Given the description of an element on the screen output the (x, y) to click on. 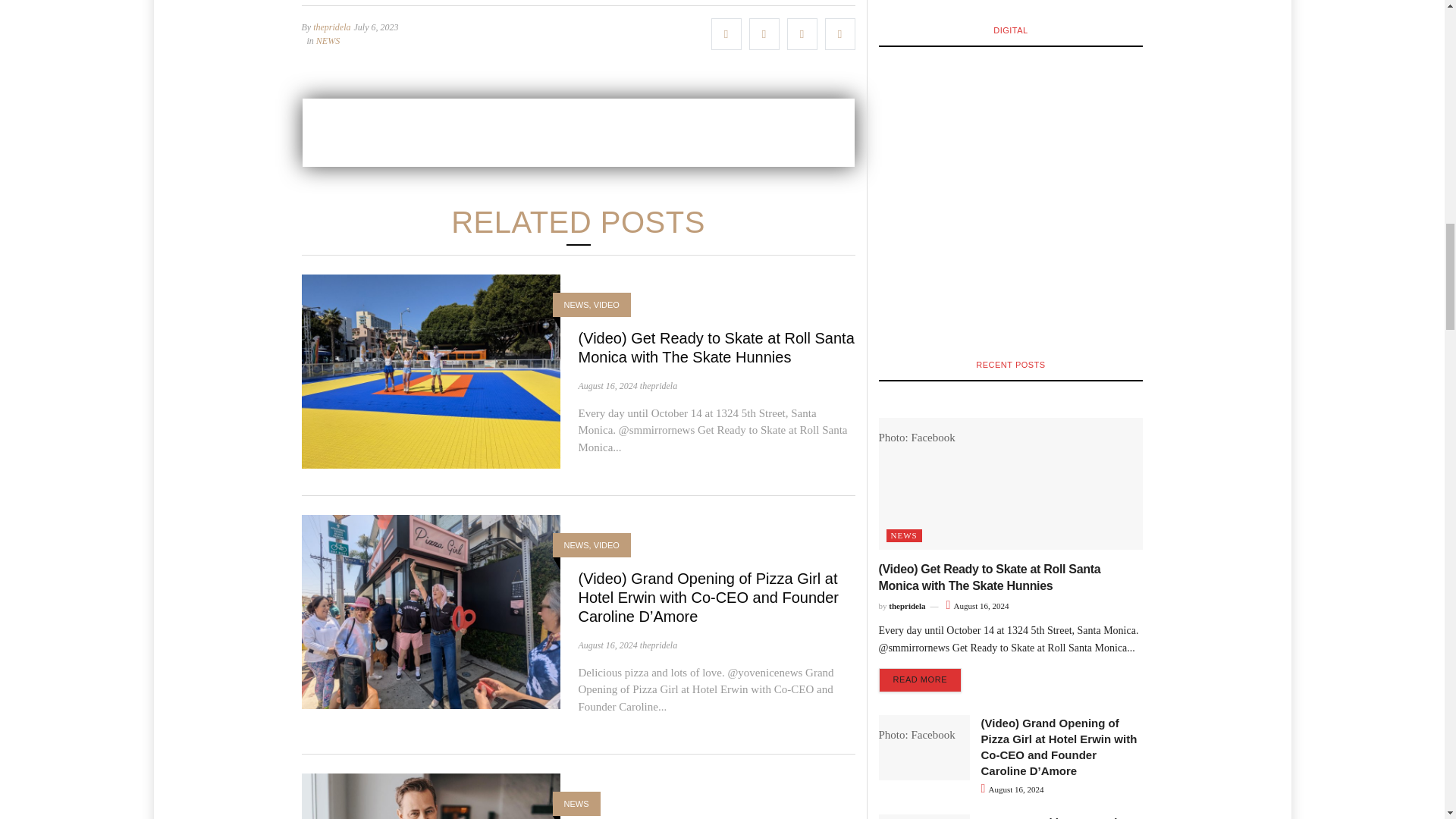
Posts by thepridela (658, 385)
Posts by thepridela (331, 27)
thepridela (331, 27)
3rd party ad content (577, 132)
Posts by thepridela (658, 644)
NEWS (327, 40)
